Given the description of an element on the screen output the (x, y) to click on. 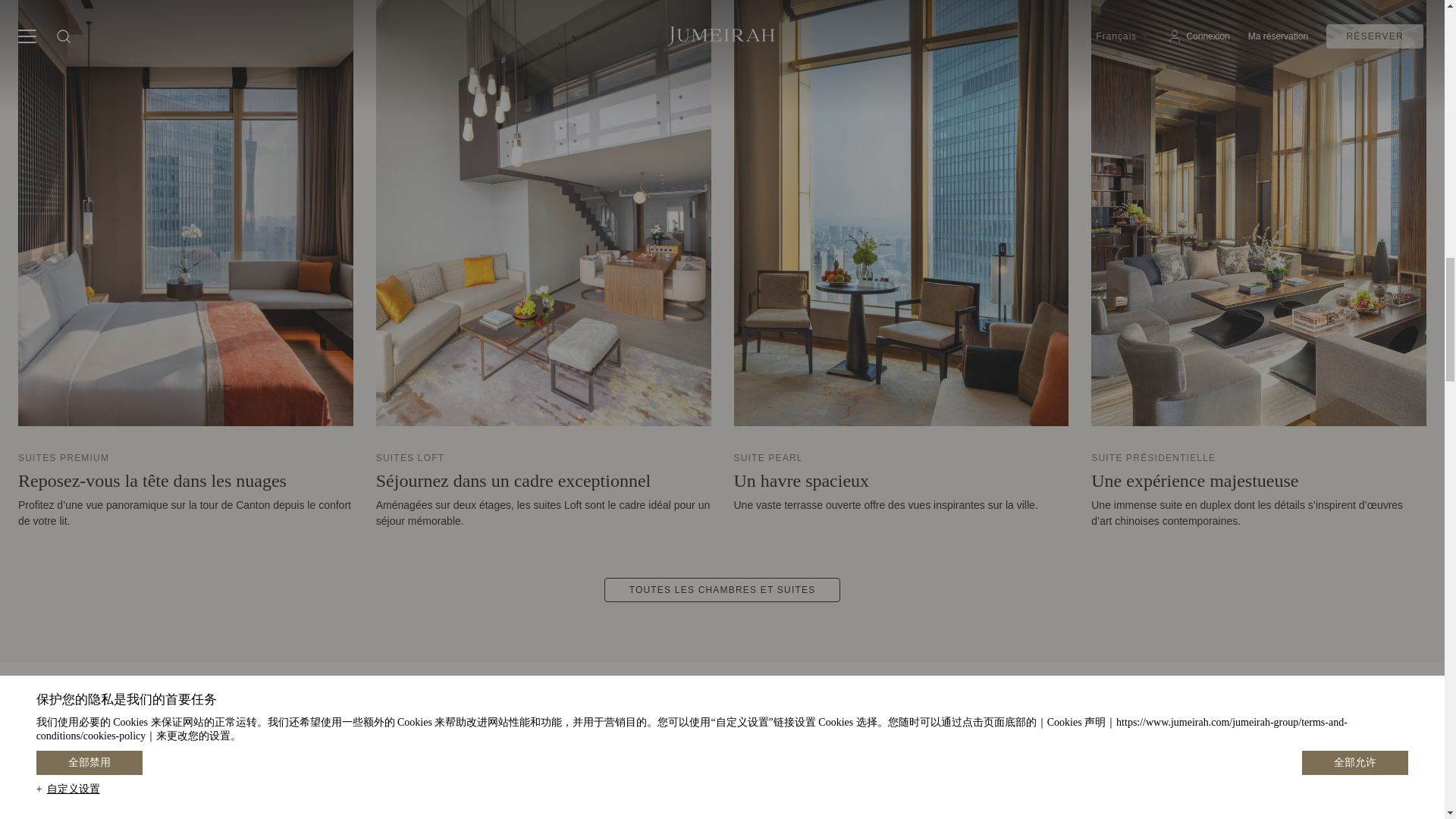
SUITE PEARL (768, 458)
TOUTES LES CHAMBRES ET SUITES (722, 589)
SUITES PREMIUM (63, 458)
SUITES LOFT (410, 458)
